Given the description of an element on the screen output the (x, y) to click on. 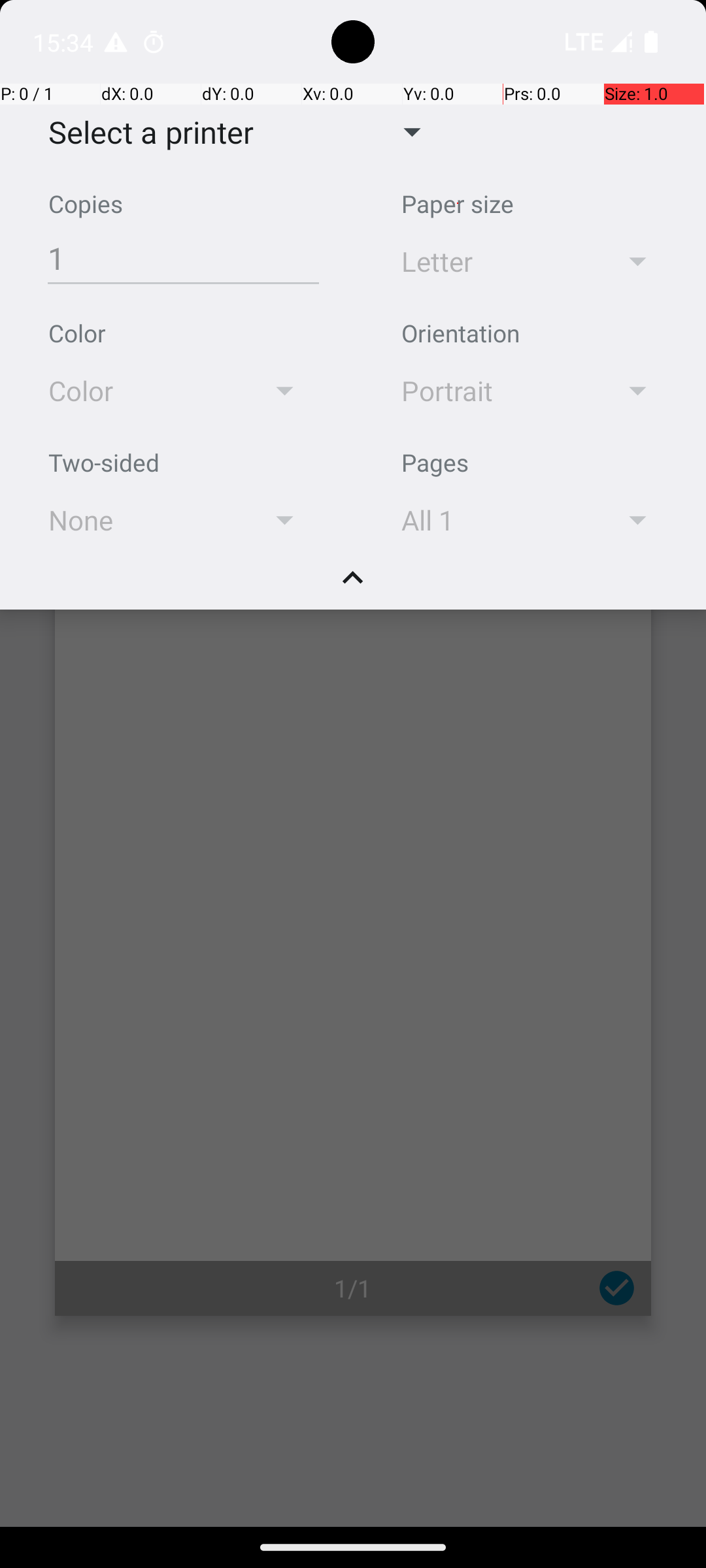
Copies Element type: android.widget.TextView (85, 203)
Paper size Element type: android.widget.TextView (457, 203)
Orientation Element type: android.widget.TextView (460, 332)
Two-sided Element type: android.widget.TextView (103, 461)
Pages Element type: android.widget.TextView (434, 461)
Collapse handle Element type: android.widget.FrameLayout (353, 585)
Select a printer Element type: android.widget.TextView (140, 131)
Letter Element type: android.widget.CheckedTextView (491, 261)
Portrait Element type: android.widget.CheckedTextView (491, 390)
All 1 Element type: android.widget.CheckedTextView (491, 519)
Page 1 of 1 Element type: android.widget.CompoundButton (352, 902)
1/1 Element type: android.widget.TextView (352, 1287)
